Given the description of an element on the screen output the (x, y) to click on. 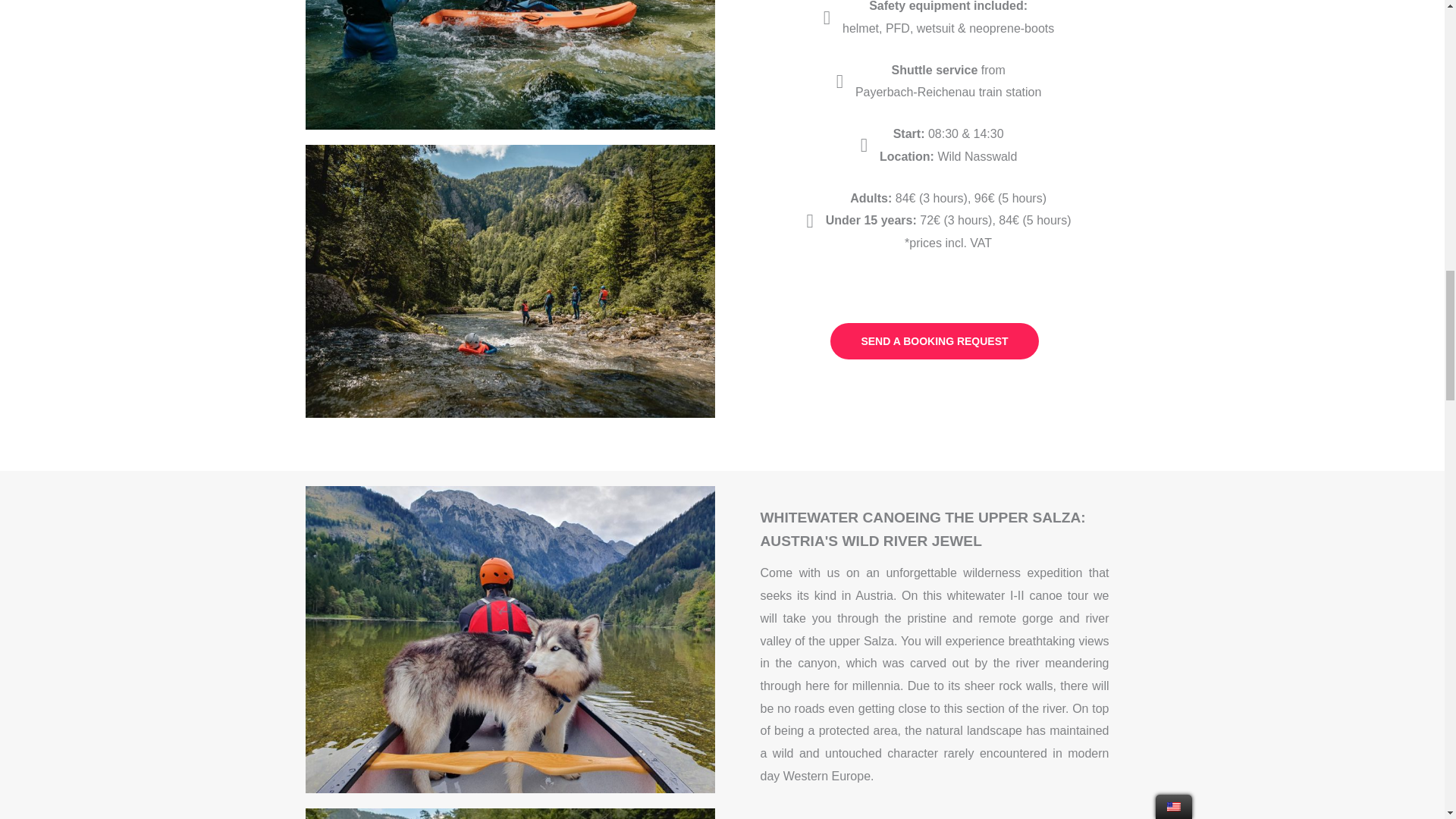
SEND A BOOKING REQUEST (933, 340)
